Given the description of an element on the screen output the (x, y) to click on. 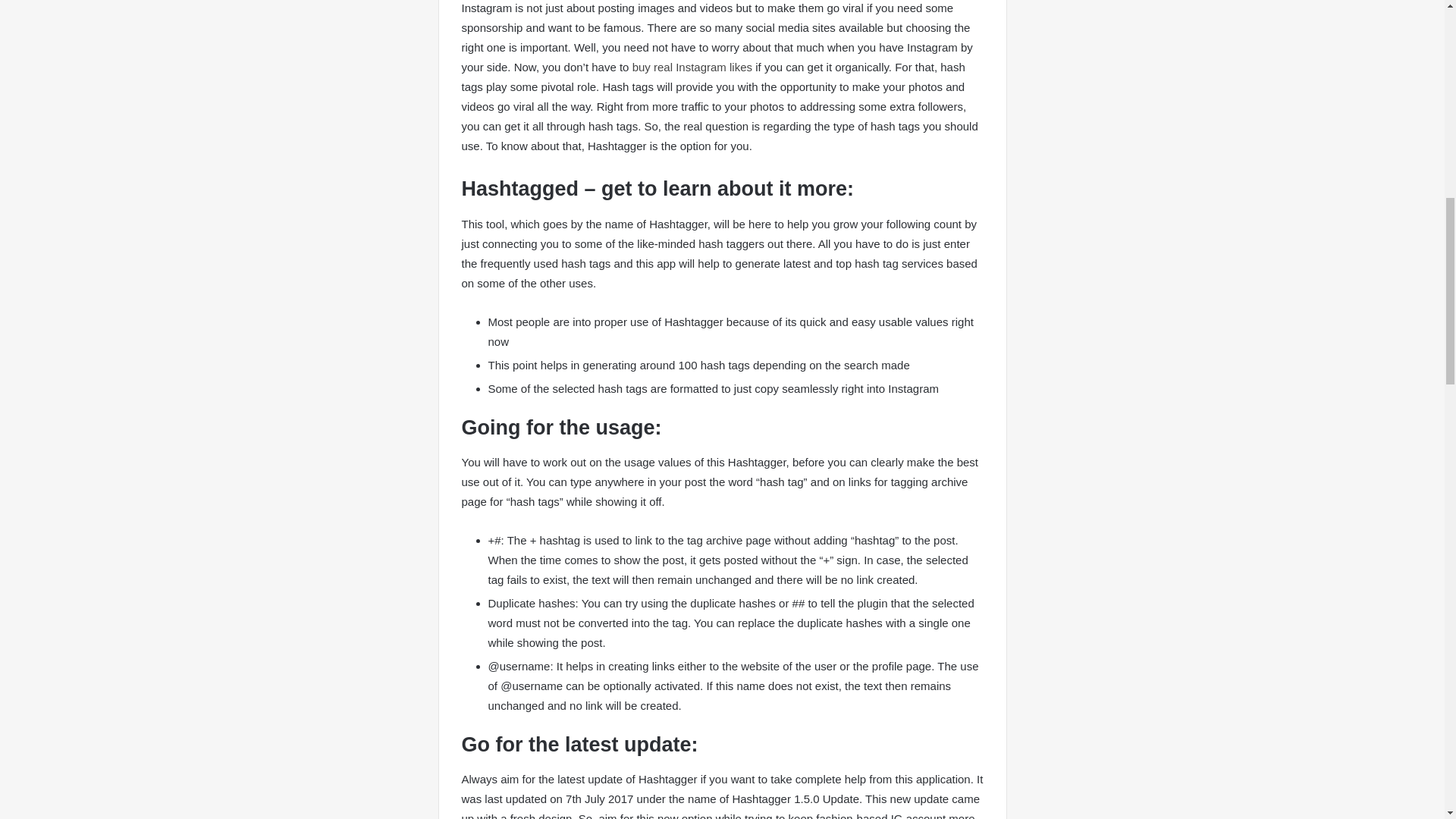
buy real Instagram likes (691, 66)
